Given the description of an element on the screen output the (x, y) to click on. 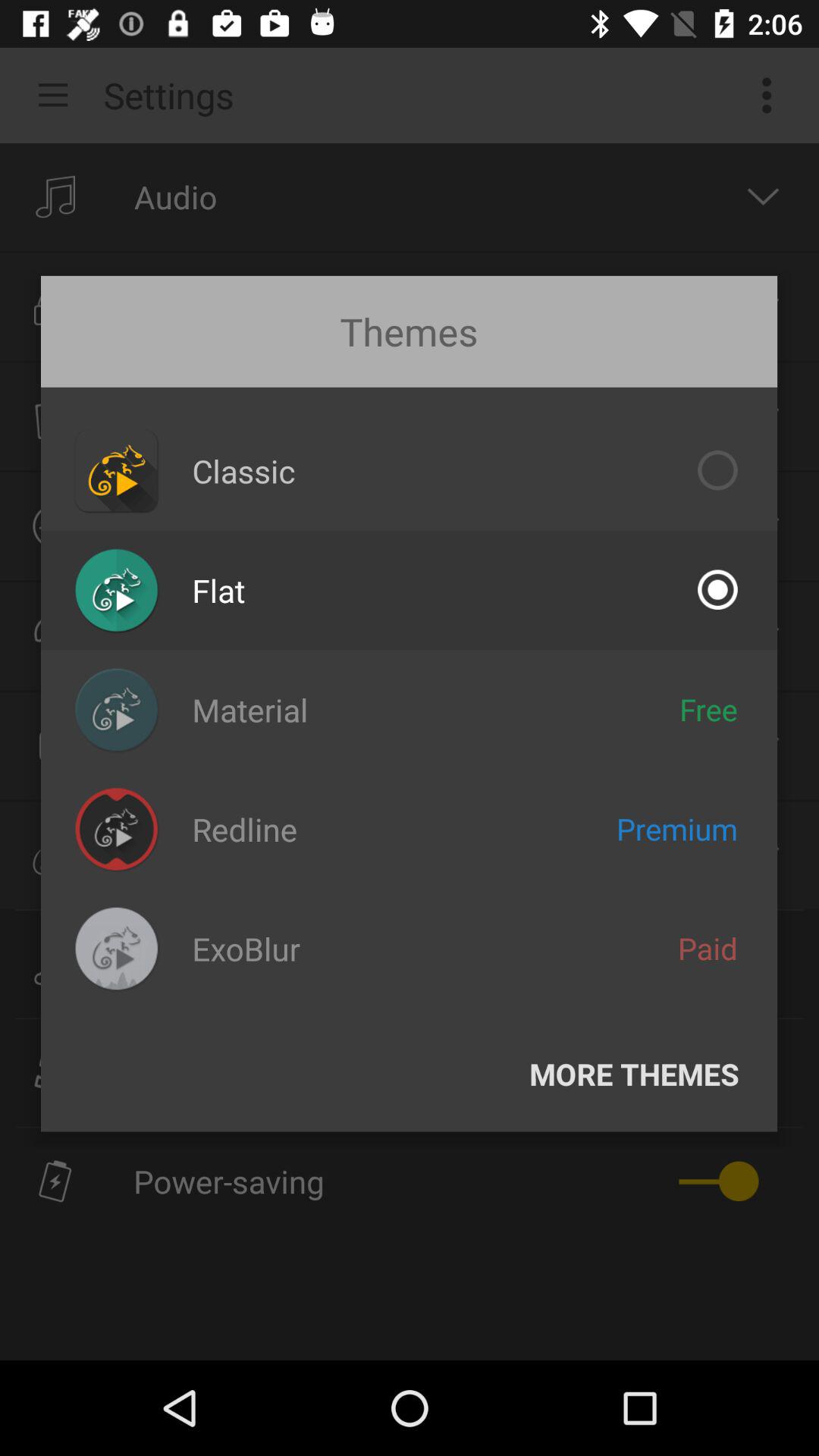
turn off icon below the classic item (218, 589)
